Given the description of an element on the screen output the (x, y) to click on. 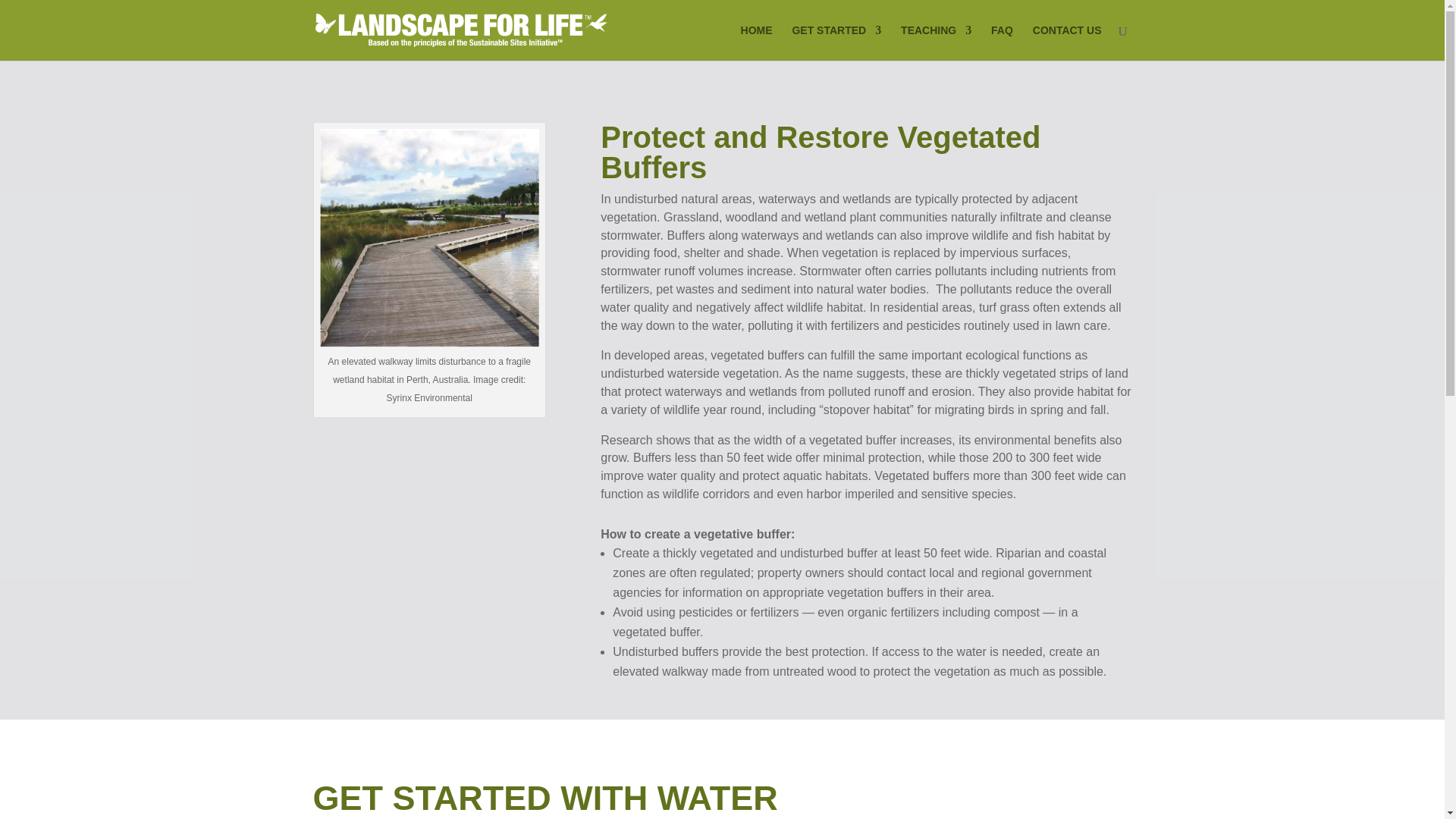
TEACHING (936, 42)
HOME (757, 42)
CONTACT US (1067, 42)
GET STARTED (836, 42)
